Given the description of an element on the screen output the (x, y) to click on. 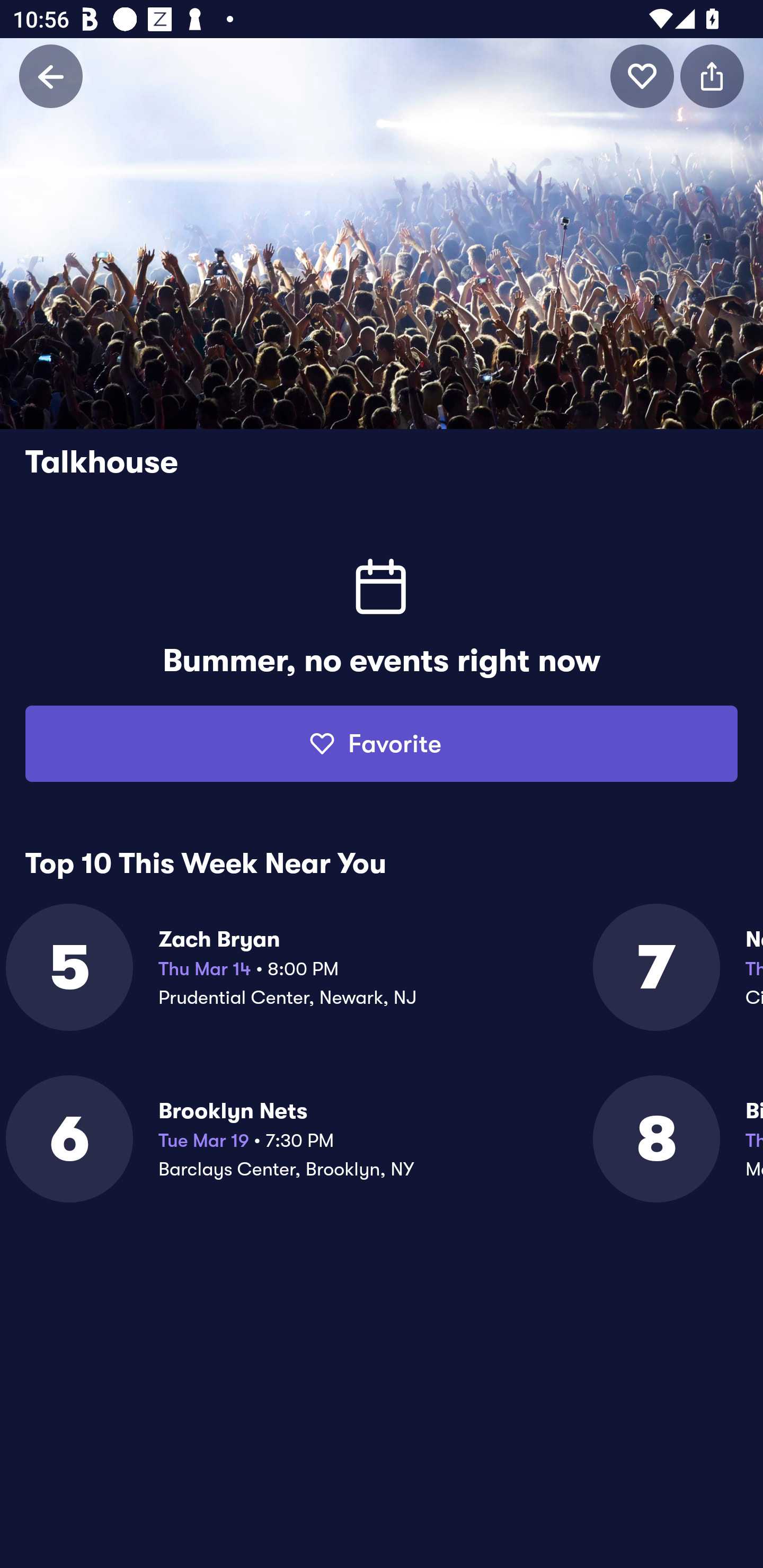
Back (50, 75)
icon button (641, 75)
icon button (711, 75)
Favorite (381, 743)
